Given the description of an element on the screen output the (x, y) to click on. 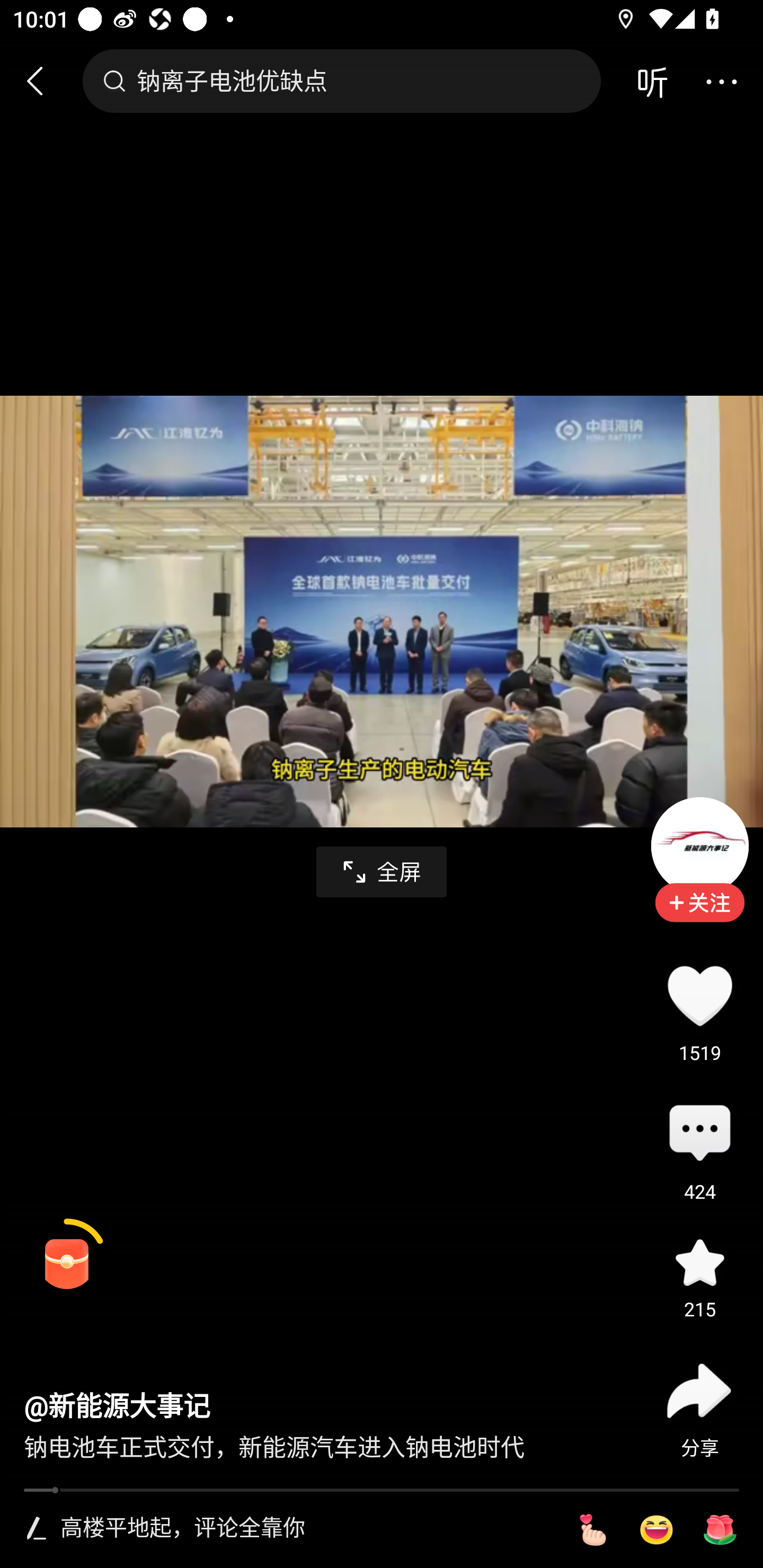
钠离子电池优缺点 搜索框，钠离子电池优缺点 (341, 80)
返回 (43, 80)
音频 (651, 80)
更多操作 (720, 80)
头像 (699, 845)
全屏播放 (381, 871)
加关注 (699, 915)
点赞1519 1519 (699, 995)
评论424 评论 424 (699, 1134)
收藏 215 (699, 1262)
阅读赚金币 (66, 1259)
分享 (699, 1390)
@新能源大事记 (116, 1406)
高楼平地起，评论全靠你 (305, 1529)
[比心] (592, 1530)
[大笑] (656, 1530)
[玫瑰] (719, 1530)
